Given the description of an element on the screen output the (x, y) to click on. 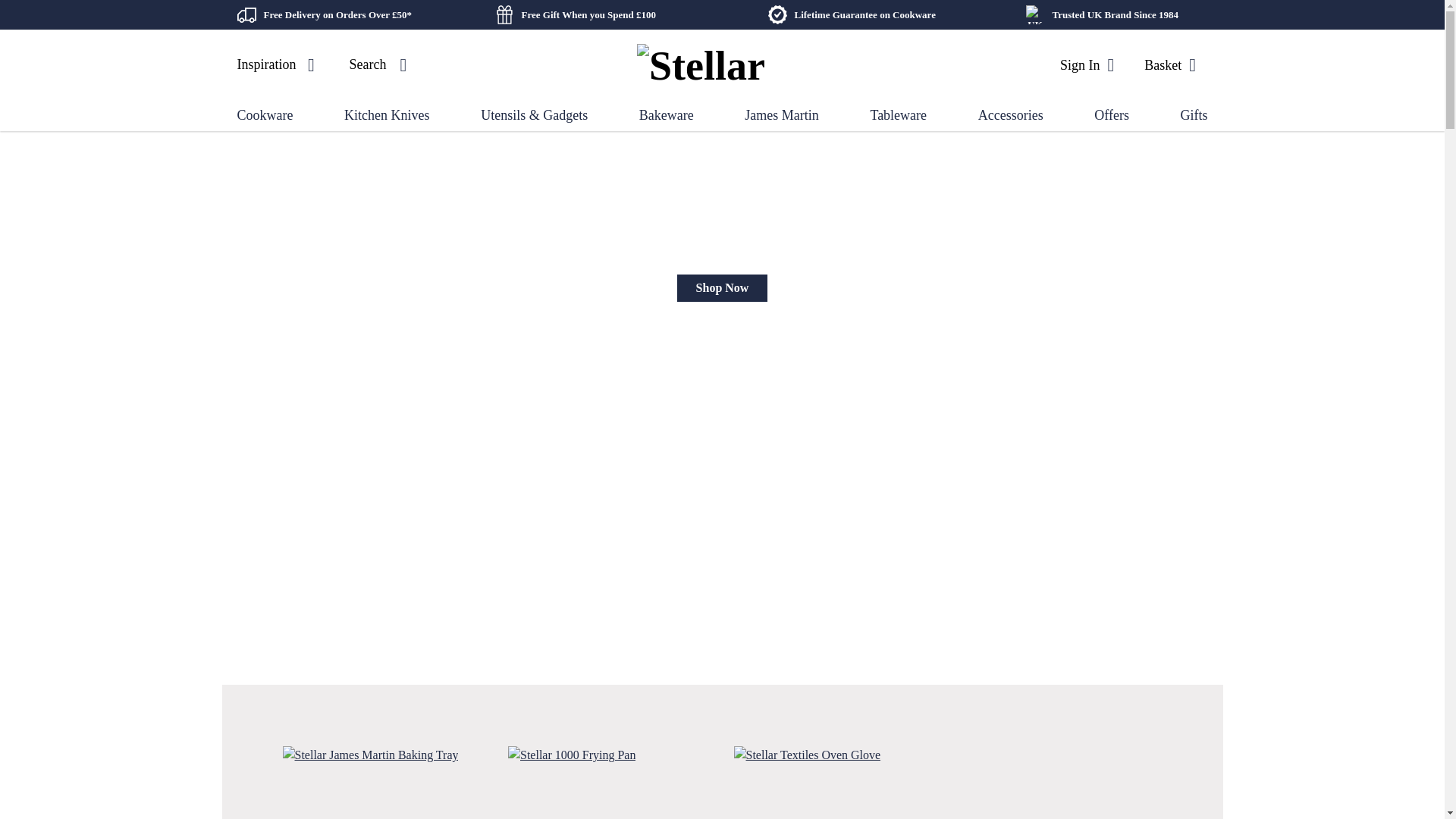
Trusted UK Brand Since 1984 (1116, 14)
Inspiration (276, 65)
Search (380, 64)
Sign In (1086, 64)
Lifetime Guarantee on Cookware (865, 14)
Stellar Kitchenware (704, 64)
Basket (1169, 64)
